Given the description of an element on the screen output the (x, y) to click on. 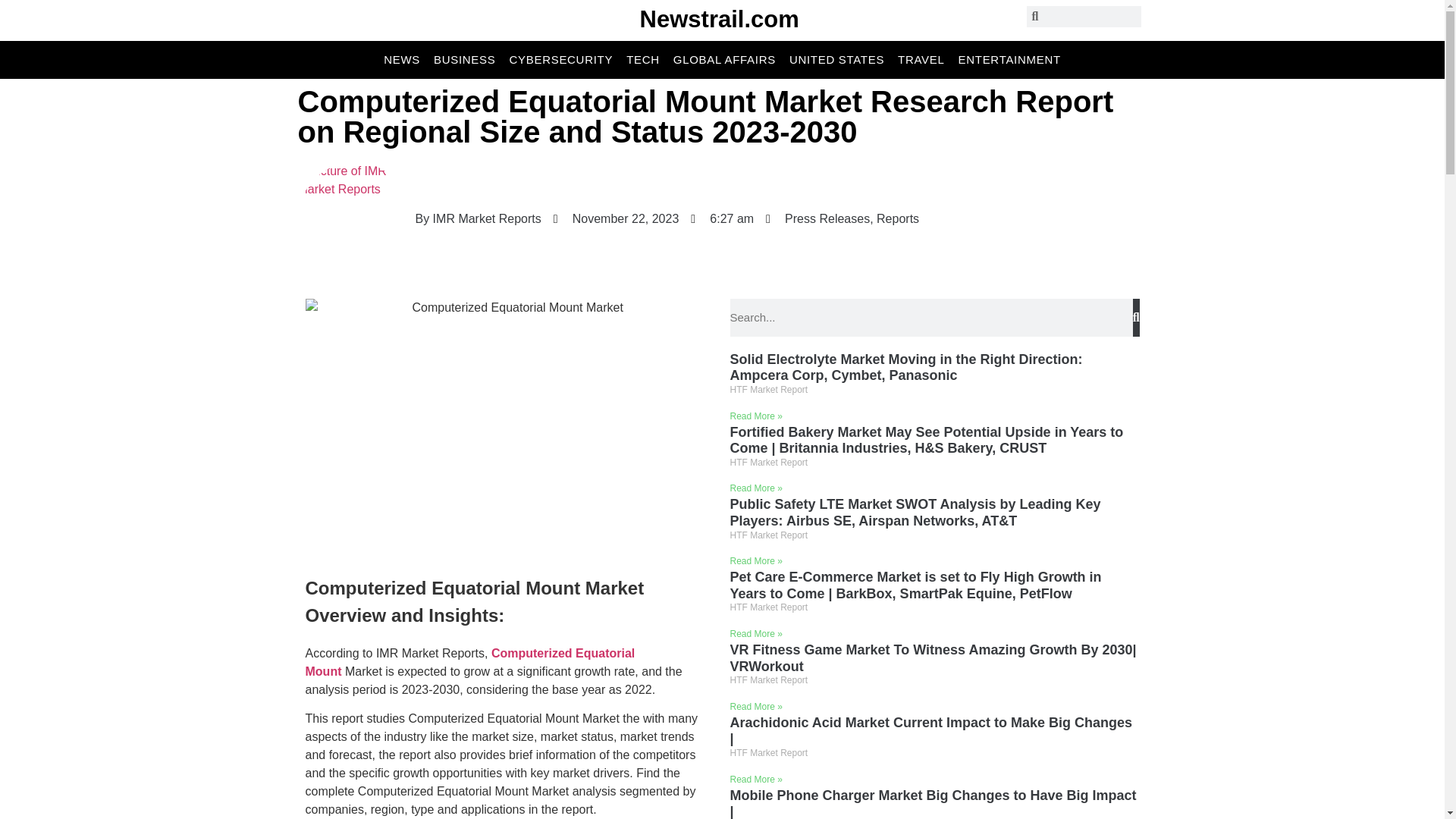
Newstrail.com (719, 18)
UNITED STATES (836, 59)
NEWS (401, 59)
TRAVEL (921, 59)
BUSINESS (463, 59)
TECH (642, 59)
GLOBAL AFFAIRS (723, 59)
CYBERSECURITY (560, 59)
ENTERTAINMENT (1009, 59)
